Given the description of an element on the screen output the (x, y) to click on. 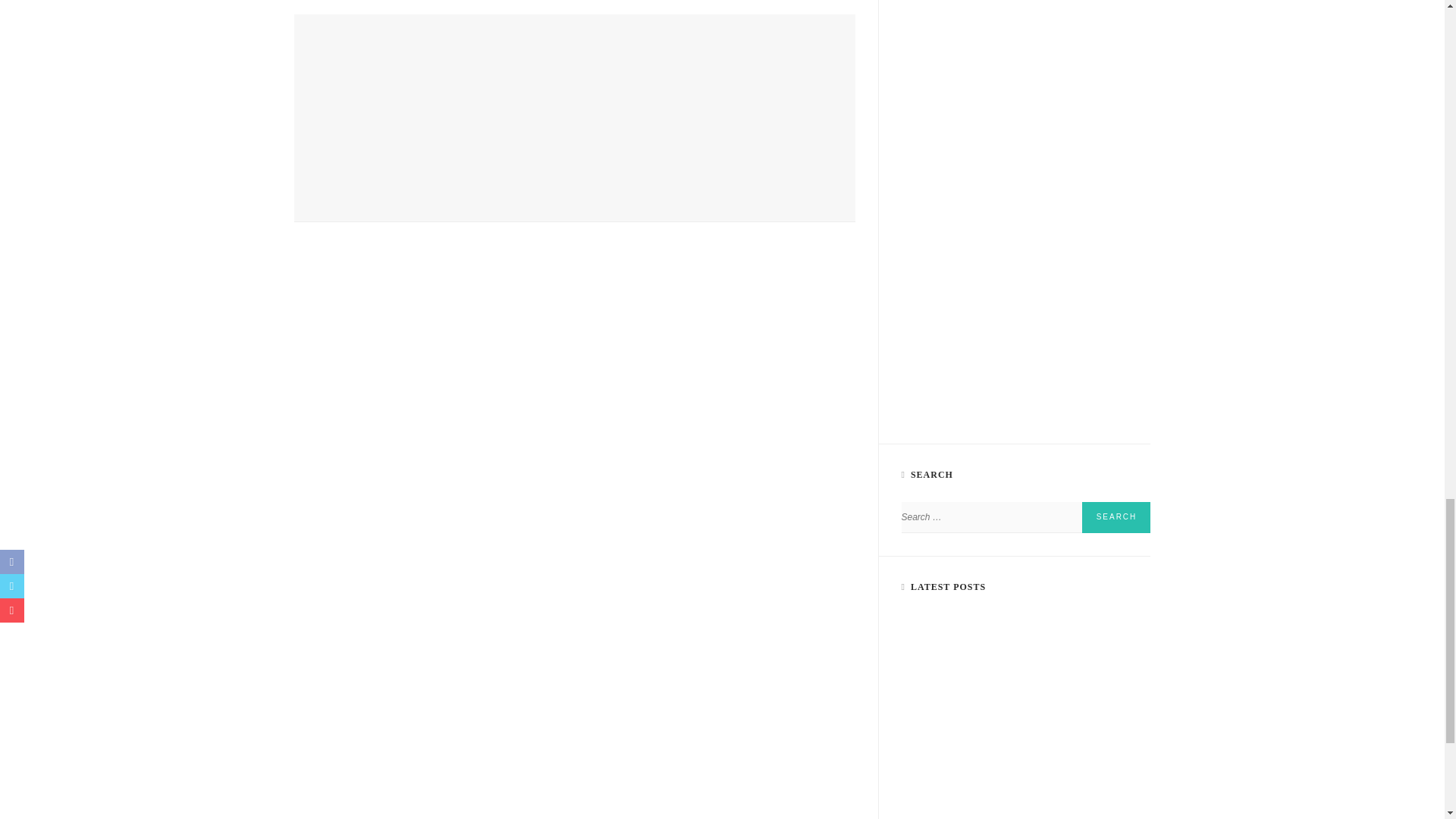
Search (1115, 517)
Search (1115, 517)
